Given the description of an element on the screen output the (x, y) to click on. 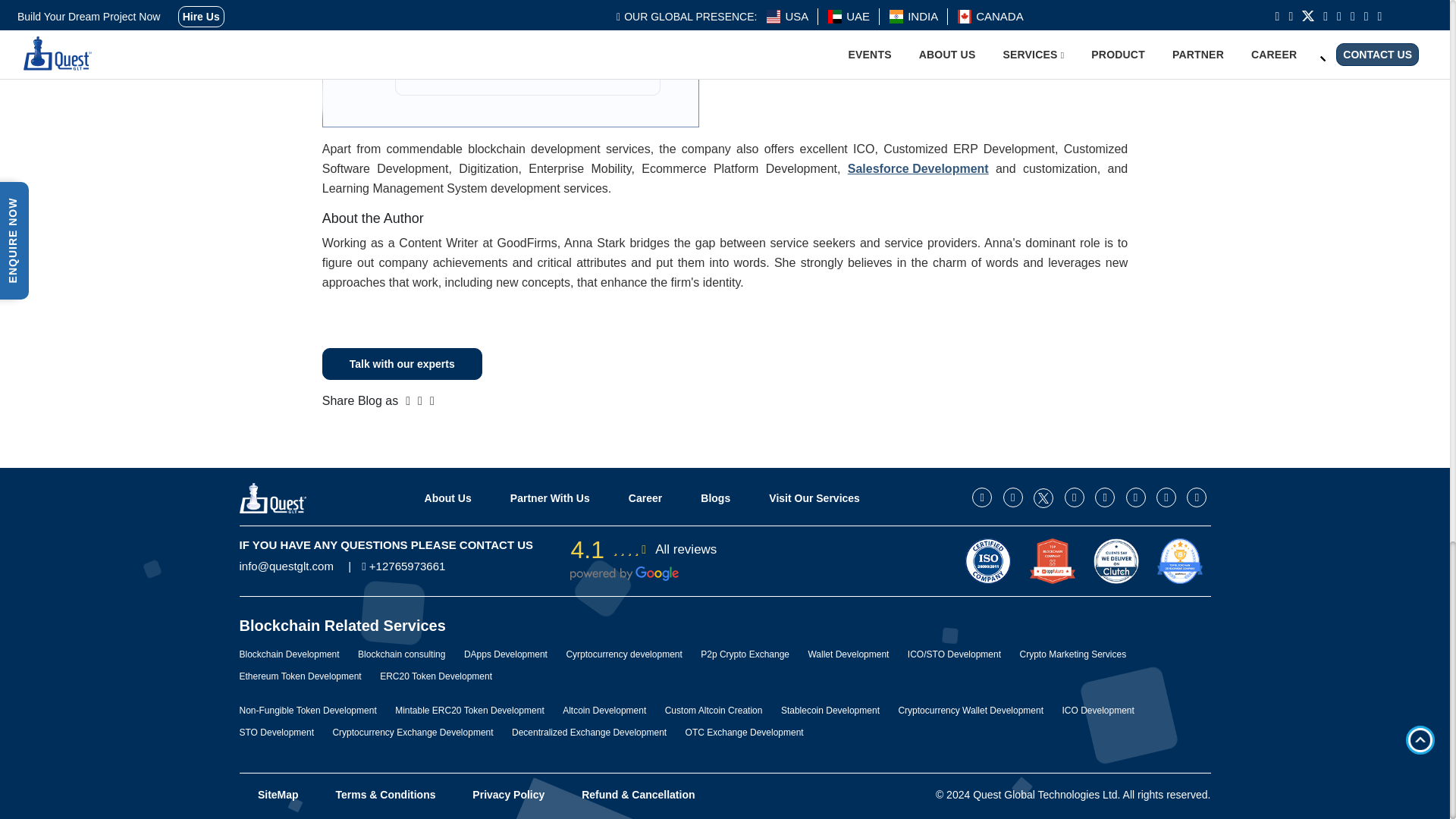
youtube (1166, 496)
twitter (1042, 497)
whatsapp (1104, 496)
instagram (981, 496)
facebook (1013, 496)
linkedin (1074, 496)
Powered by Google (624, 573)
discord (1196, 496)
telegram (1135, 496)
